Given the description of an element on the screen output the (x, y) to click on. 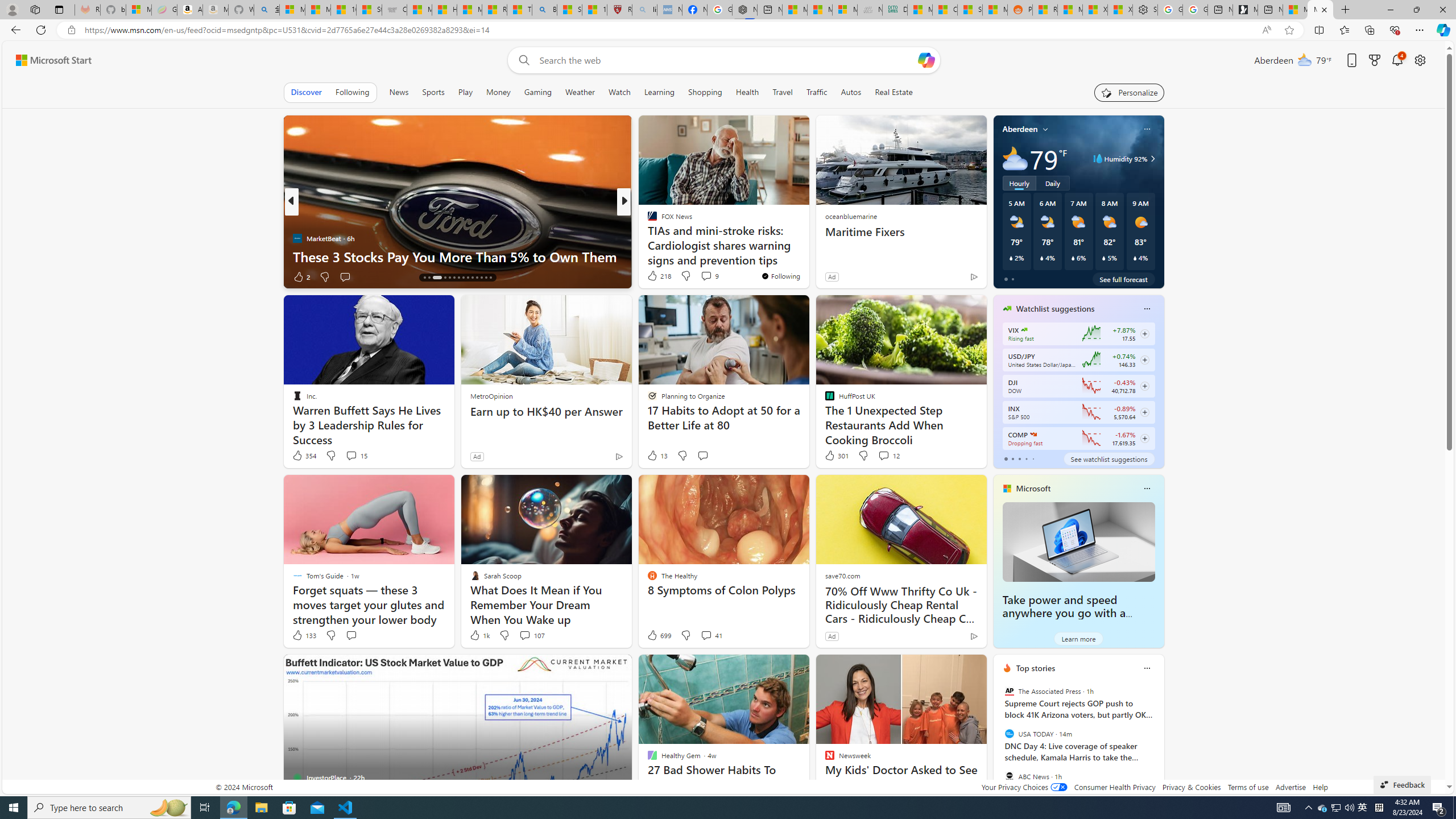
View comments 9 Comment (709, 275)
Maritime Fixers (900, 232)
View comments 41 Comment (705, 635)
ABC News (1008, 775)
Privacy & Cookies (1191, 786)
Earn up to HK$40 per Answer (546, 411)
604 Like (654, 276)
